Given the description of an element on the screen output the (x, y) to click on. 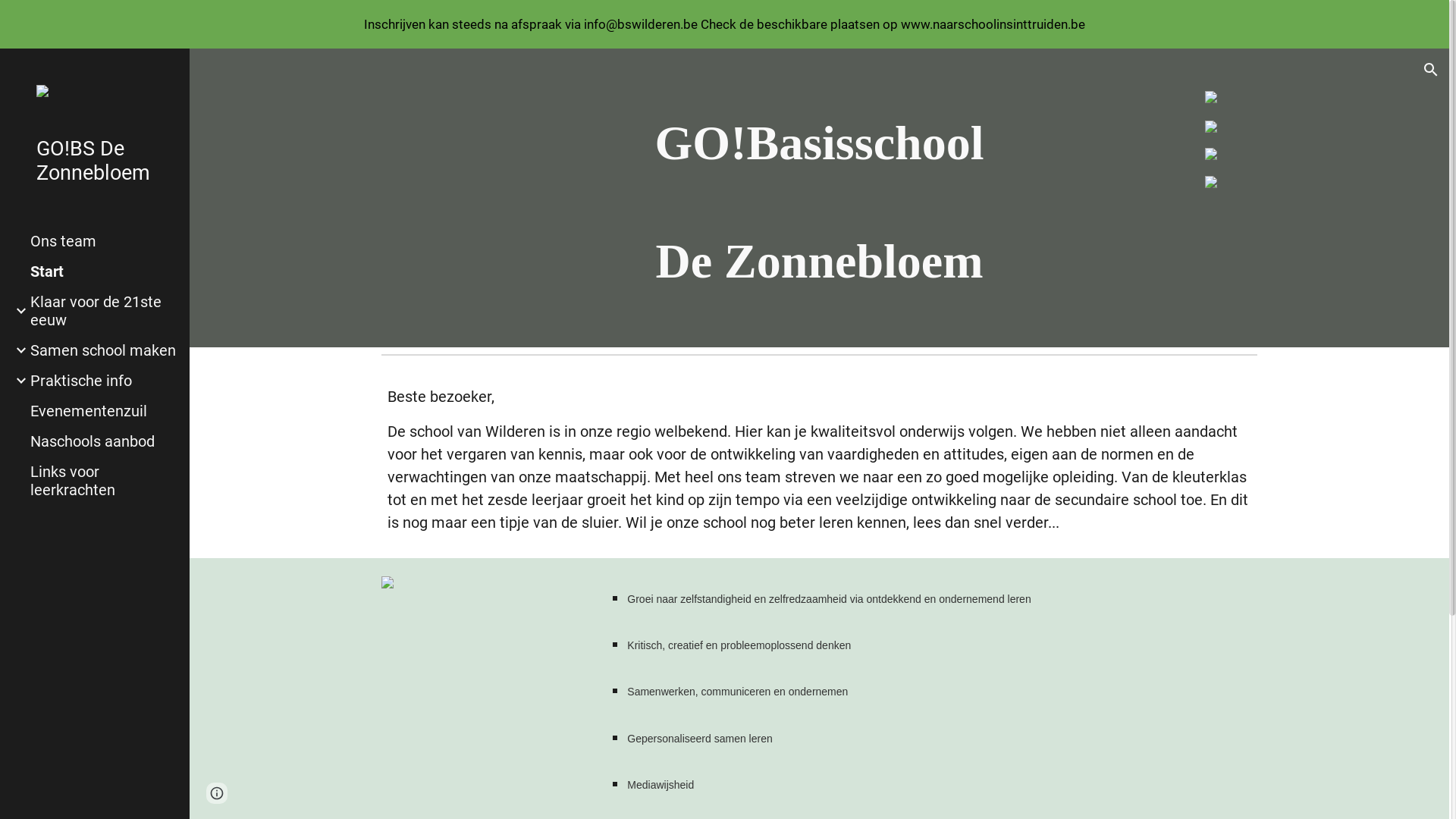
Samen school maken Element type: text (103, 350)
Expand/Collapse Element type: hover (16, 350)
Expand/Collapse Element type: hover (16, 310)
Links voor leerkrachten Element type: text (103, 480)
Start Element type: text (103, 271)
Ons team Element type: text (103, 241)
Praktische info Element type: text (103, 380)
Klaar voor de 21ste eeuw Element type: text (103, 310)
Expand/Collapse Element type: hover (16, 380)
Naschools aanbod Element type: text (103, 441)
Evenementenzuil Element type: text (103, 410)
GO!BS De Zonnebloem Element type: text (100, 160)
